Given the description of an element on the screen output the (x, y) to click on. 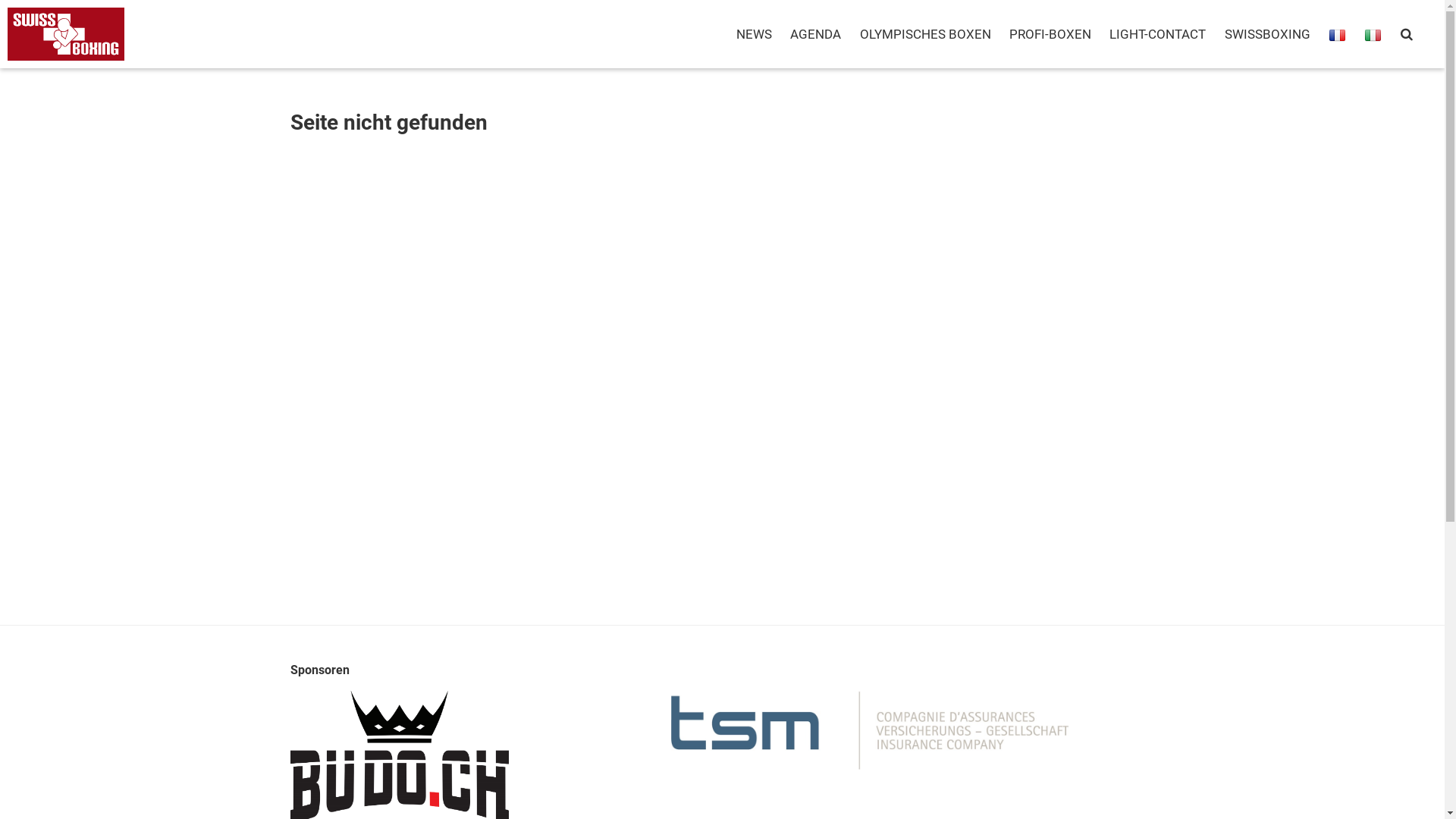
LIGHT-CONTACT Element type: text (1157, 34)
AGENDA Element type: text (815, 34)
PROFI-BOXEN Element type: text (1049, 34)
OLYMPISCHES BOXEN Element type: text (924, 34)
NEWS Element type: text (753, 34)
SWISSBOXING Element type: text (1266, 34)
